Given the description of an element on the screen output the (x, y) to click on. 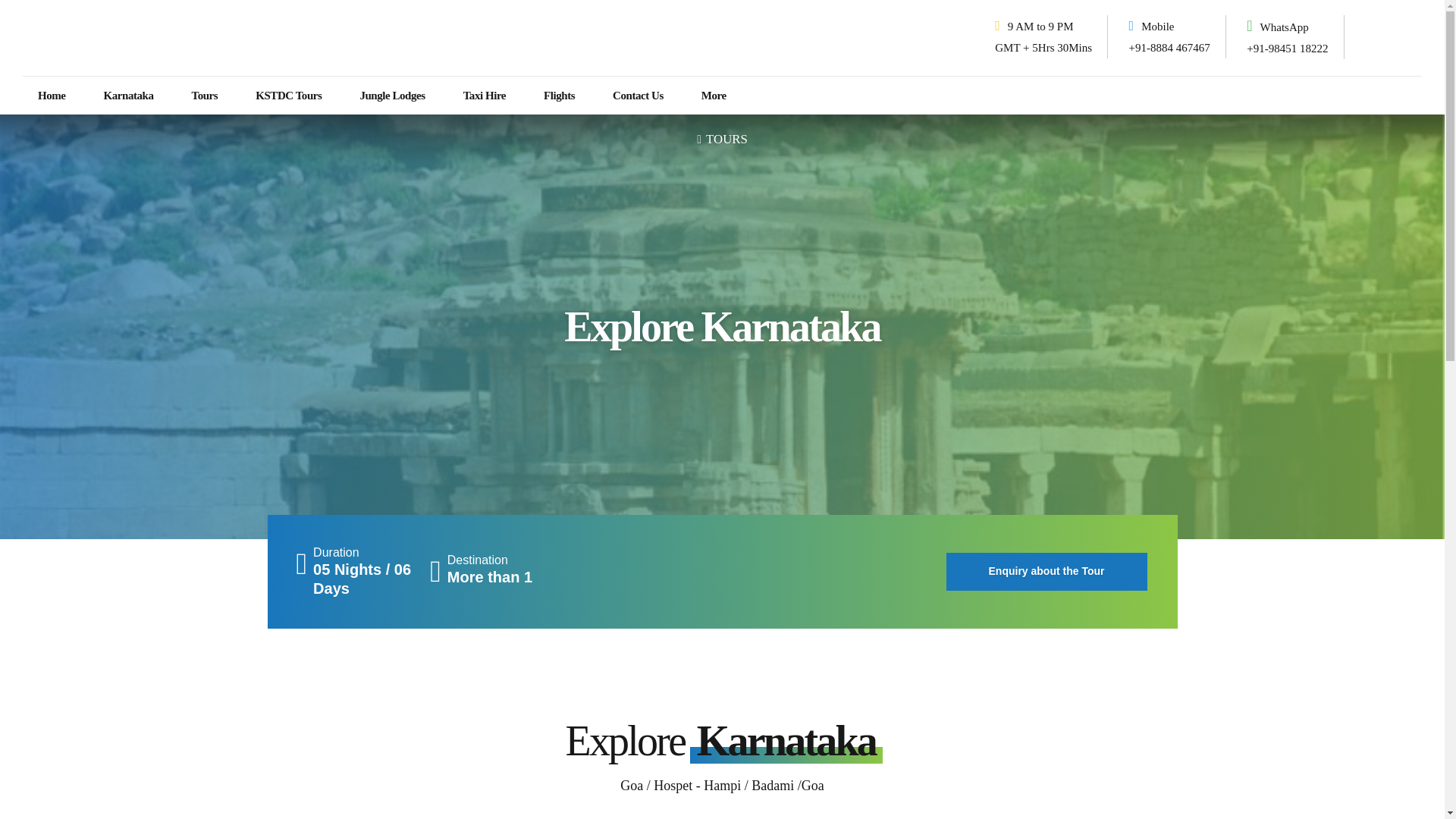
Enquiry about the Tour (1046, 571)
Taxi Hire (484, 95)
Jungle Lodges (392, 95)
Contact Us (637, 95)
TOURS (722, 138)
KSTDC Tours (288, 95)
Karnataka (128, 95)
